Given the description of an element on the screen output the (x, y) to click on. 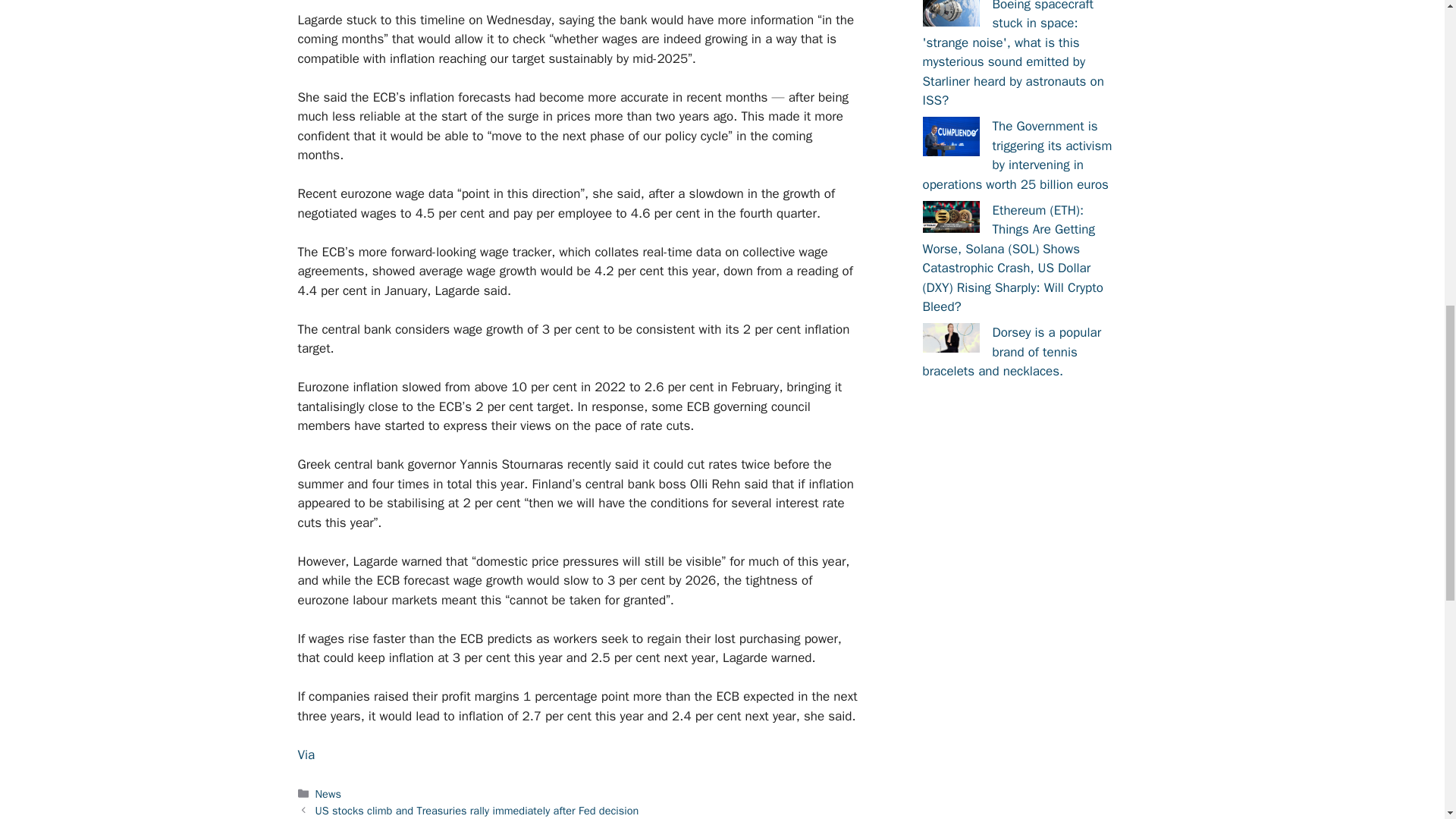
Dorsey is a popular brand of tennis bracelets and necklaces. (1010, 351)
News (327, 793)
Via (305, 754)
Scroll back to top (1406, 720)
Dorsey is a popular brand of tennis bracelets and necklaces. (949, 337)
